Given the description of an element on the screen output the (x, y) to click on. 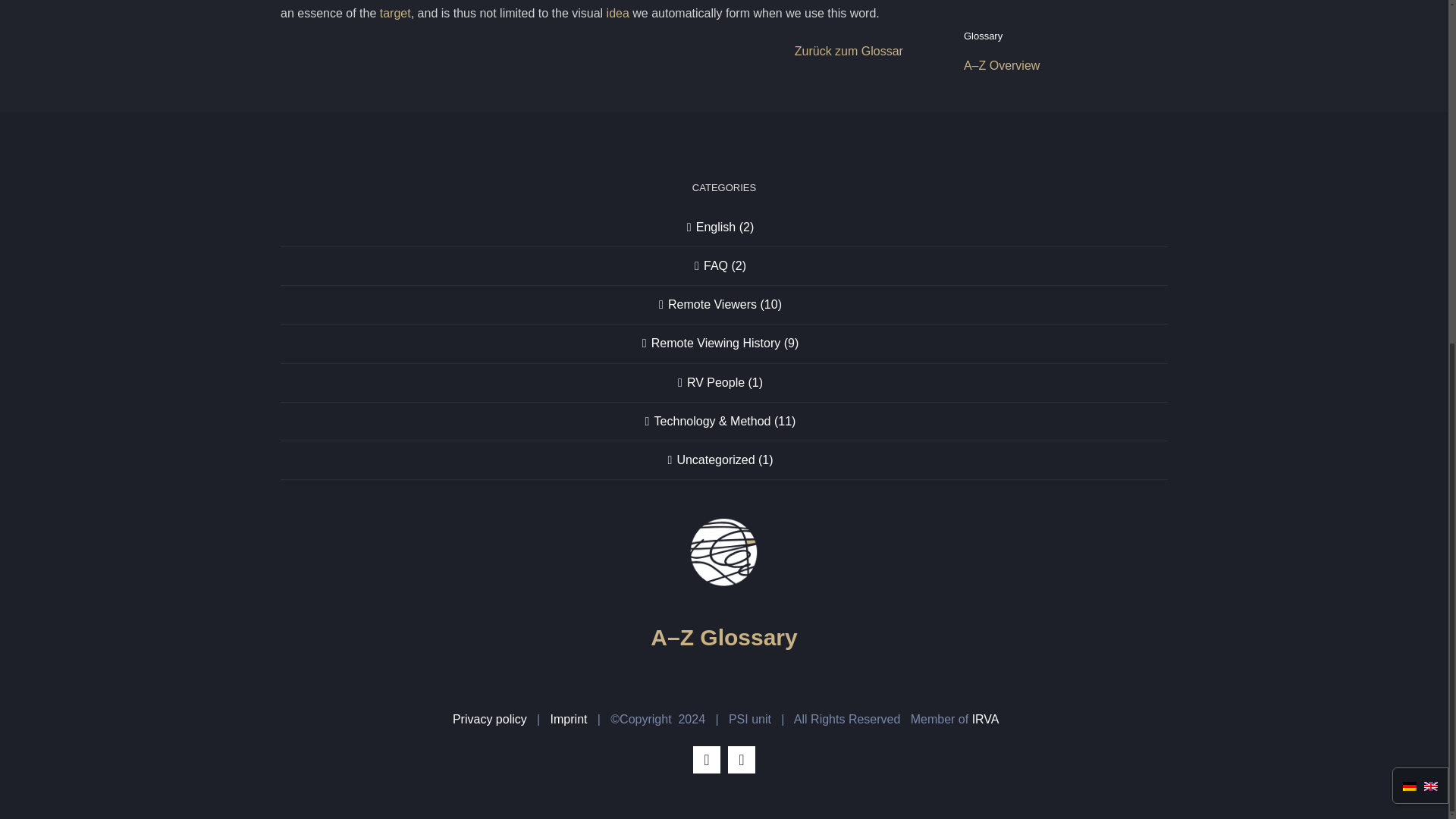
idea (617, 12)
target (395, 12)
